Given the description of an element on the screen output the (x, y) to click on. 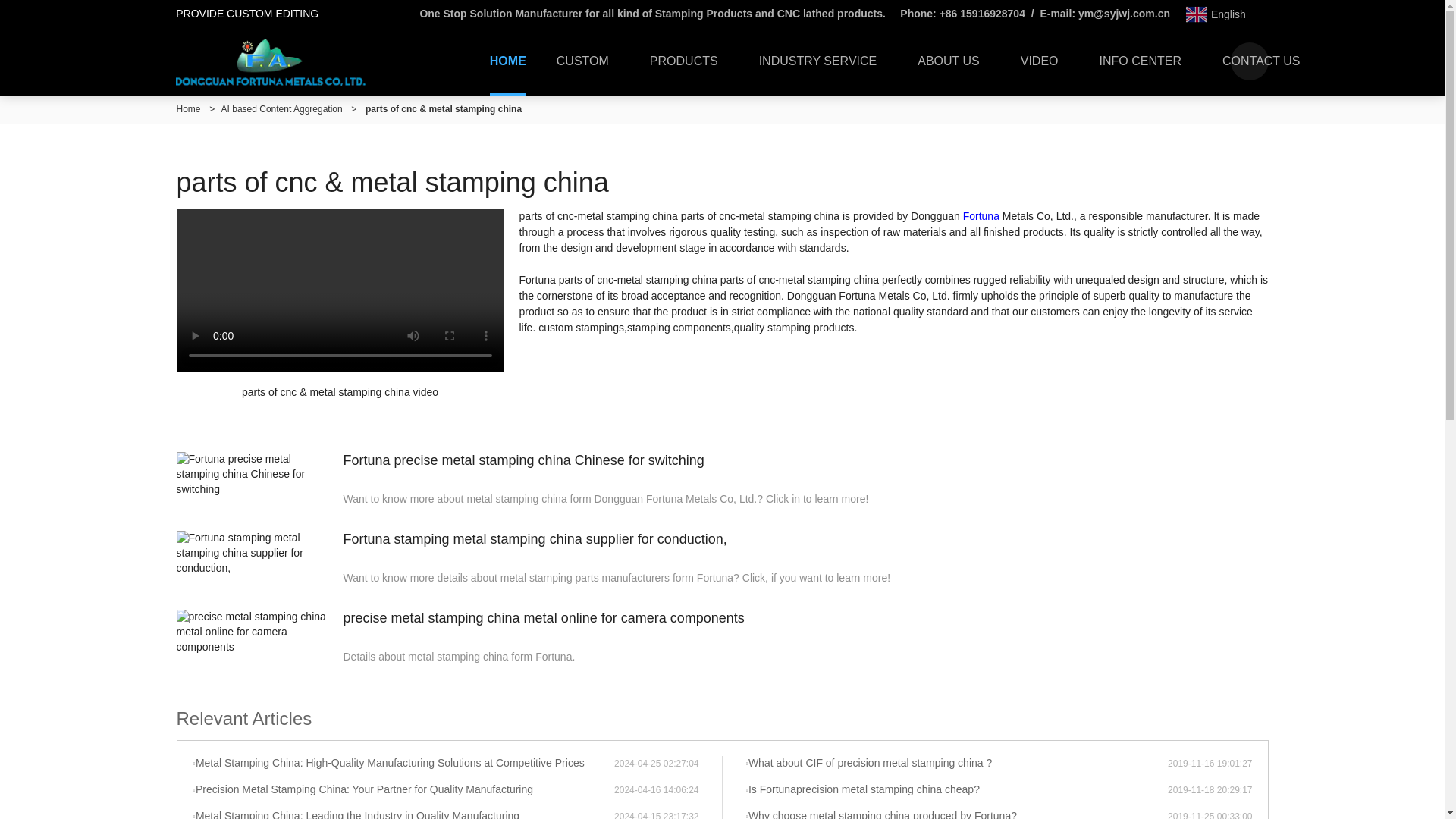
CUSTOM (587, 61)
HOME (507, 61)
PRODUCTS (689, 61)
